Given the description of an element on the screen output the (x, y) to click on. 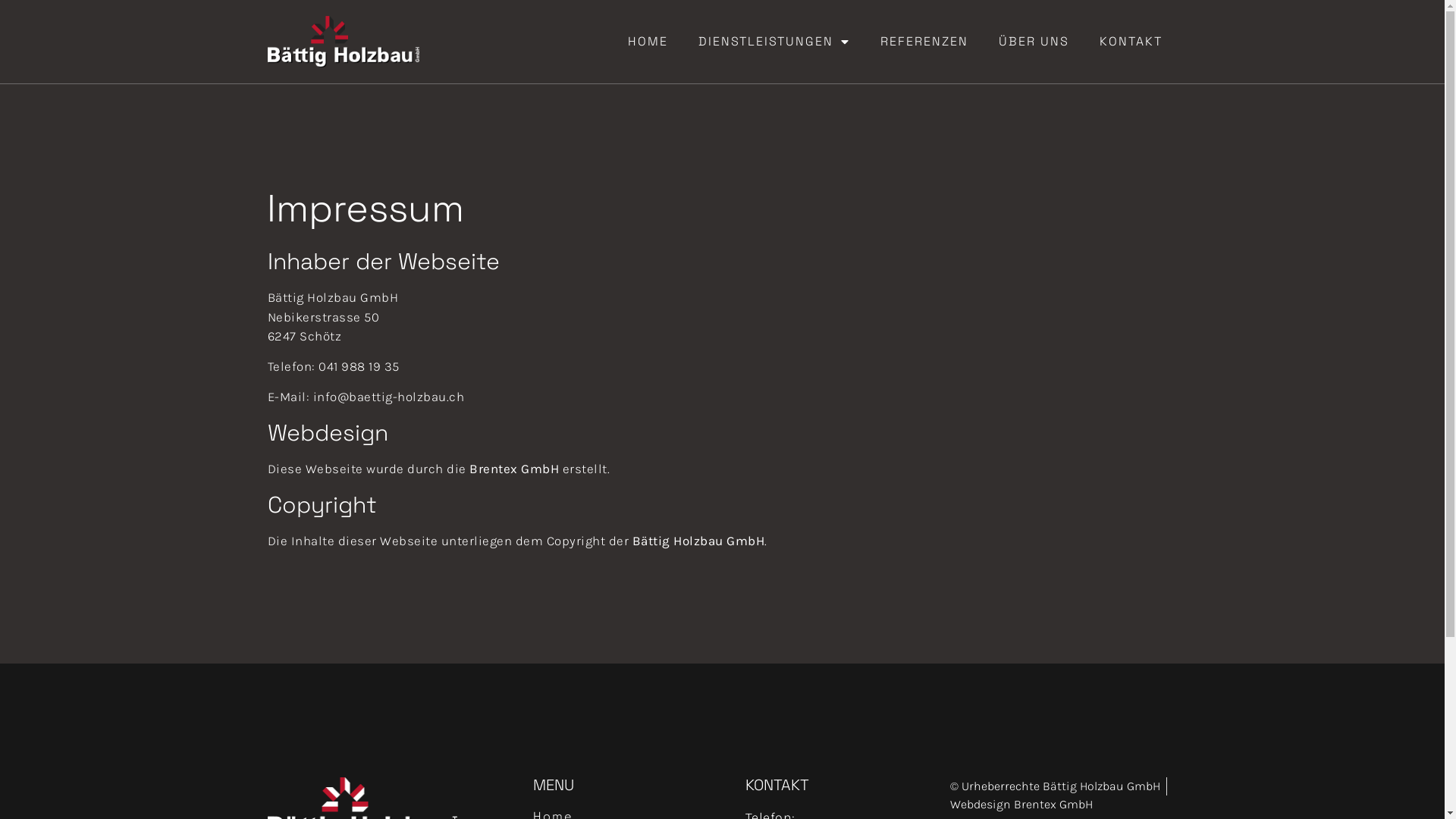
REFERENZEN Element type: text (923, 41)
Brentex GmbH Element type: text (513, 468)
HOME Element type: text (647, 41)
DIENSTLEISTUNGEN Element type: text (773, 41)
KONTAKT Element type: text (1130, 41)
Telefon: 041 988 19 35  Element type: text (334, 365)
Webdesign Brentex GmbH Element type: text (1020, 804)
E-Mail: info@baettig-holzbau.ch Element type: text (365, 396)
